Given the description of an element on the screen output the (x, y) to click on. 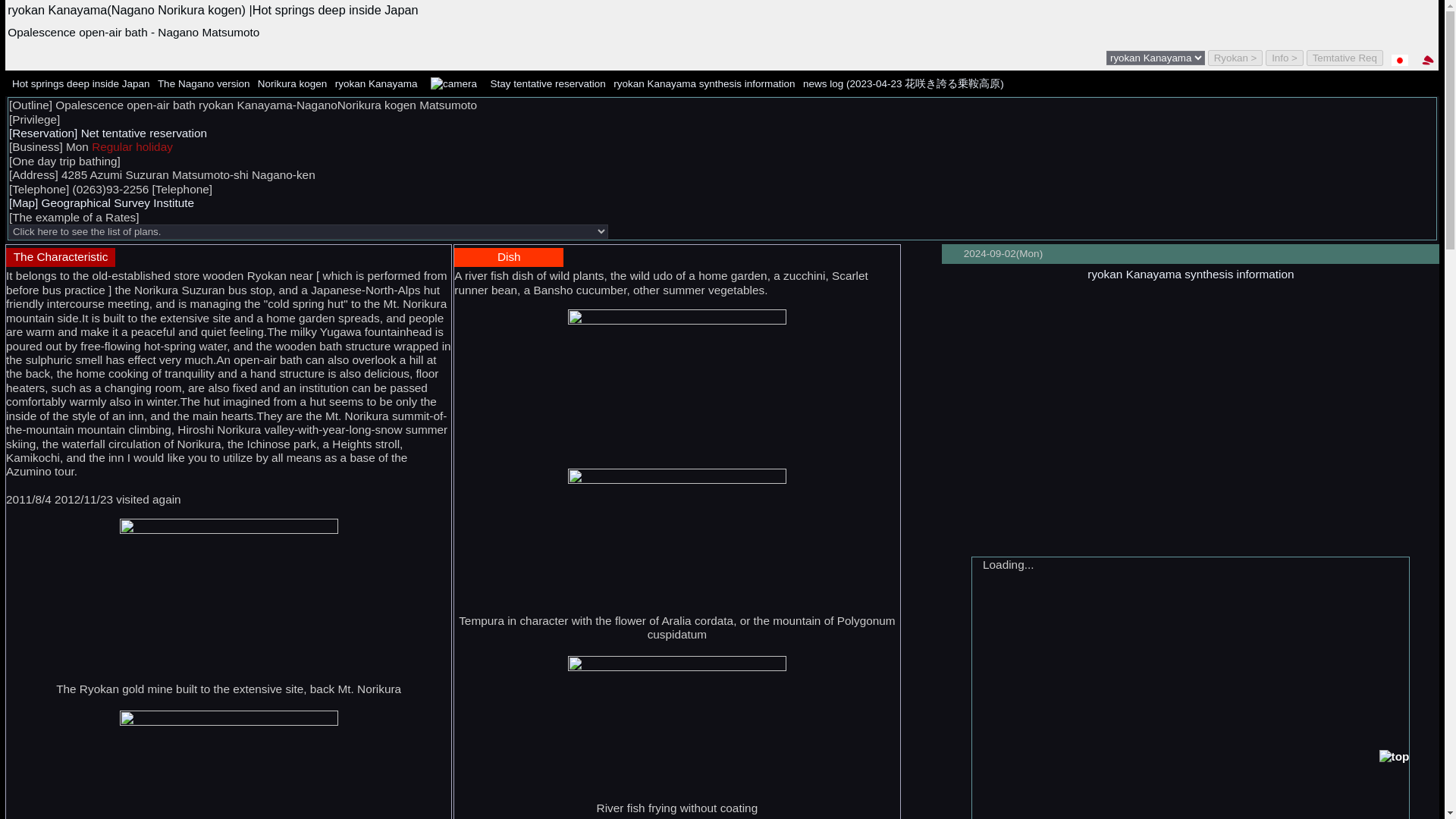
Norikura kogen (292, 83)
top (1393, 756)
The Nagano version (203, 83)
Hot springs deep inside Japan (80, 83)
Stay tentative reservation (547, 83)
Temtative Req (1344, 57)
ryokan Kanayama synthesis information (703, 83)
home (1428, 60)
ryokan Kanayama synthesis information (1190, 273)
ryokan Kanayama (375, 83)
